Given the description of an element on the screen output the (x, y) to click on. 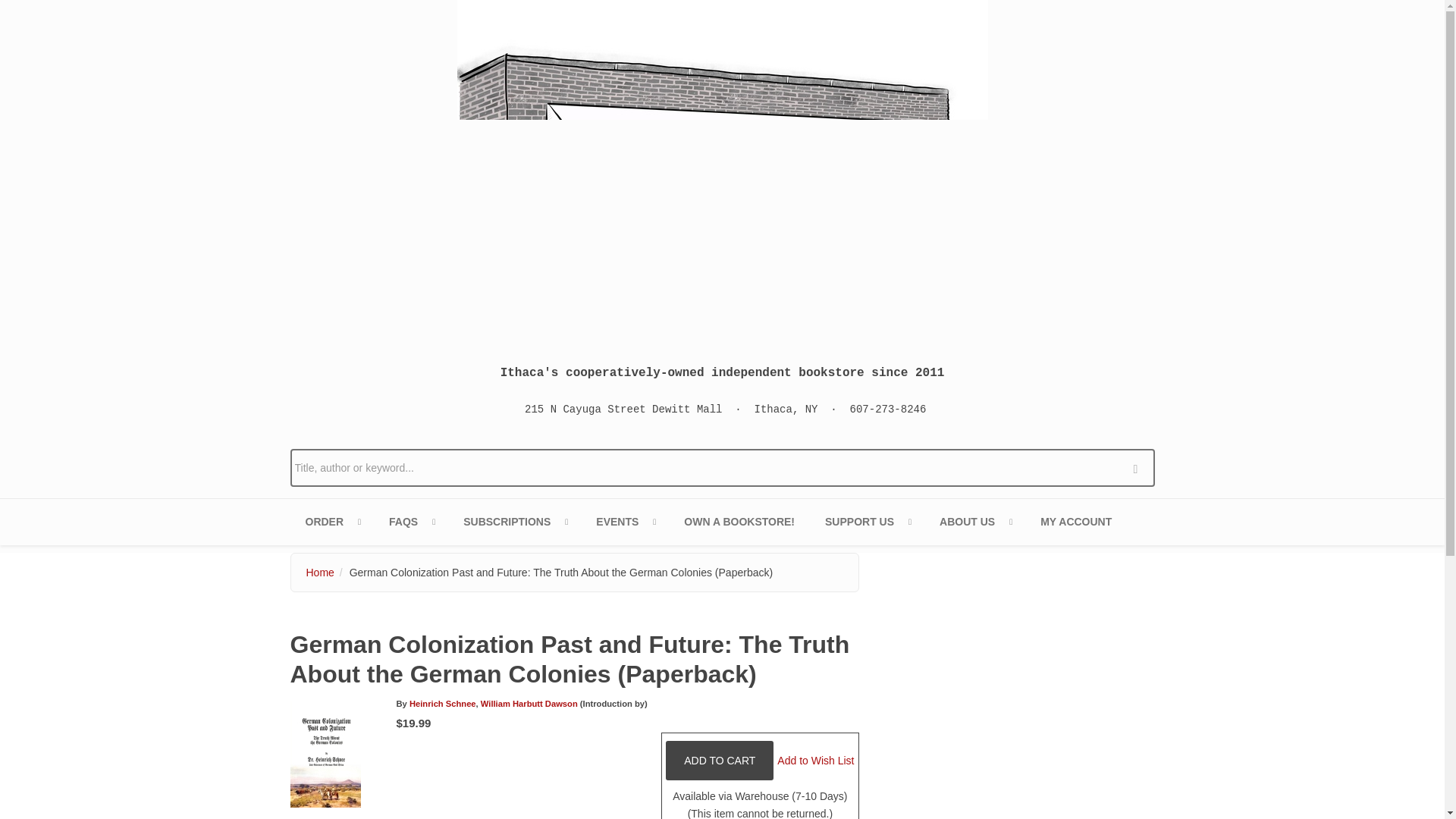
ORDER (331, 521)
Title, author or keyword... (721, 467)
Add to Cart (719, 760)
ABOUT US (974, 521)
FAQS (411, 521)
Home (722, 169)
EVENTS (624, 521)
BSB First (514, 521)
OWN A BOOKSTORE! (738, 521)
